Given the description of an element on the screen output the (x, y) to click on. 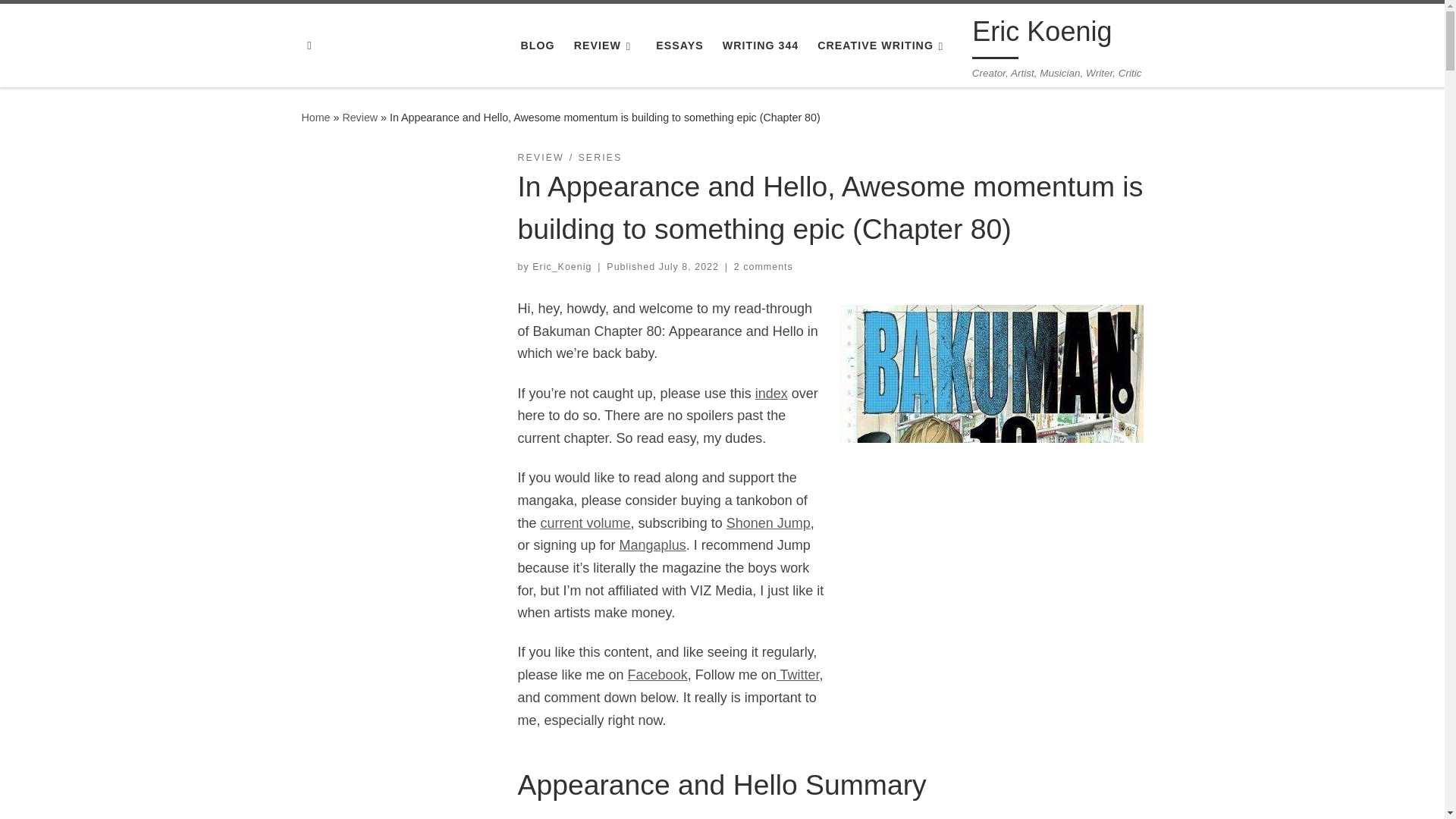
SERIES (599, 157)
Eric Koenig (1042, 34)
BLOG (537, 45)
Home (315, 117)
Eric Koenig (315, 117)
1:59 pm (689, 266)
View all posts in Series (599, 157)
ESSAYS (678, 45)
REVIEW (605, 45)
WRITING 344 (760, 45)
